Given the description of an element on the screen output the (x, y) to click on. 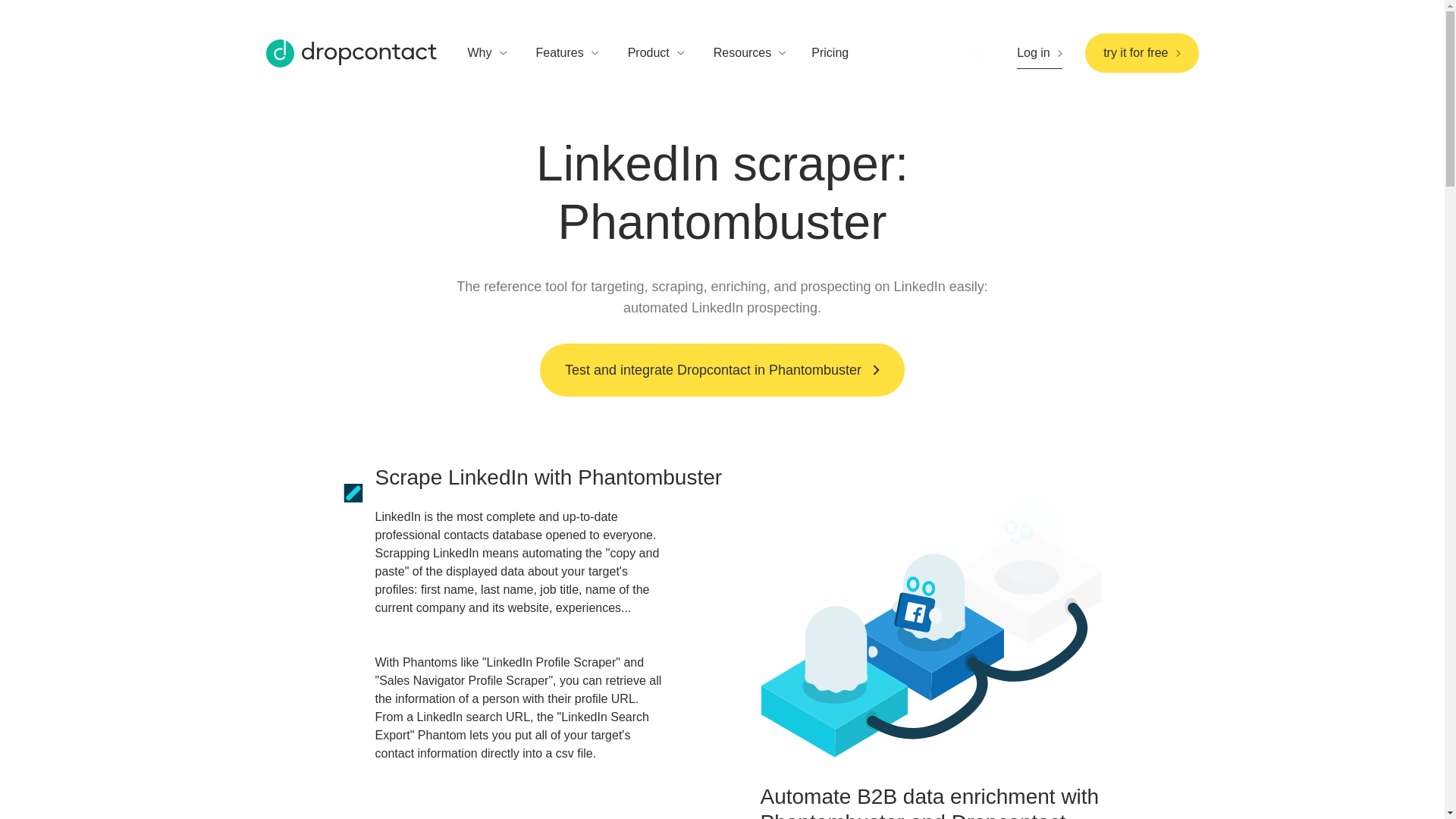
Log in (1039, 52)
Test and integrate Dropcontact in Phantombuster (722, 369)
Features (559, 52)
try it for free (1141, 52)
Pricing (838, 52)
Resources (742, 52)
Why (479, 52)
Product (648, 52)
